Given the description of an element on the screen output the (x, y) to click on. 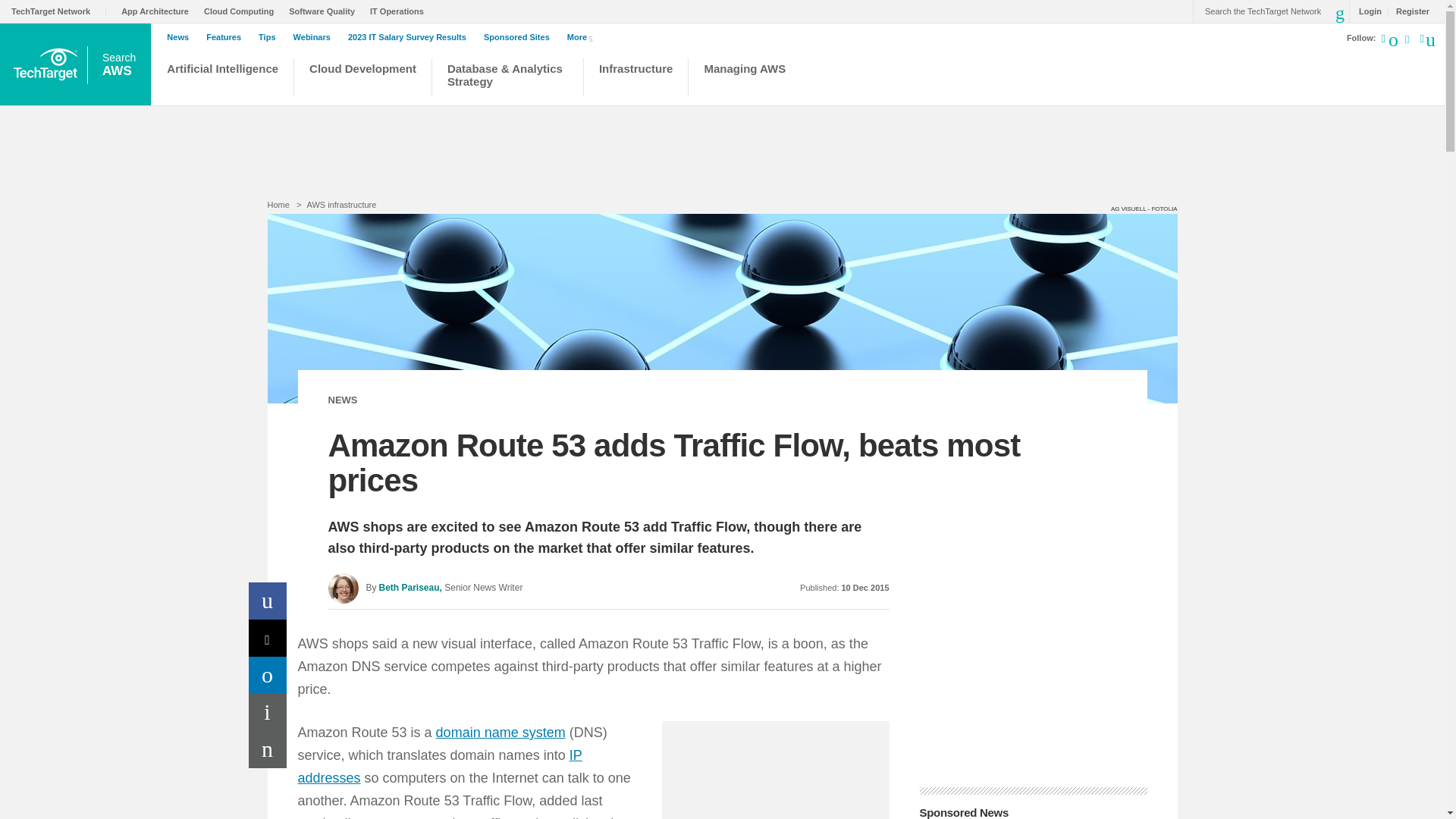
Login (1366, 10)
Webinars (315, 36)
Tips (270, 36)
Sponsored Sites (520, 36)
Print This Page (267, 712)
Email a Friend (267, 749)
IT Operations (399, 10)
Share on X (267, 637)
Cloud Computing (242, 10)
TechTarget Network (58, 10)
